Given the description of an element on the screen output the (x, y) to click on. 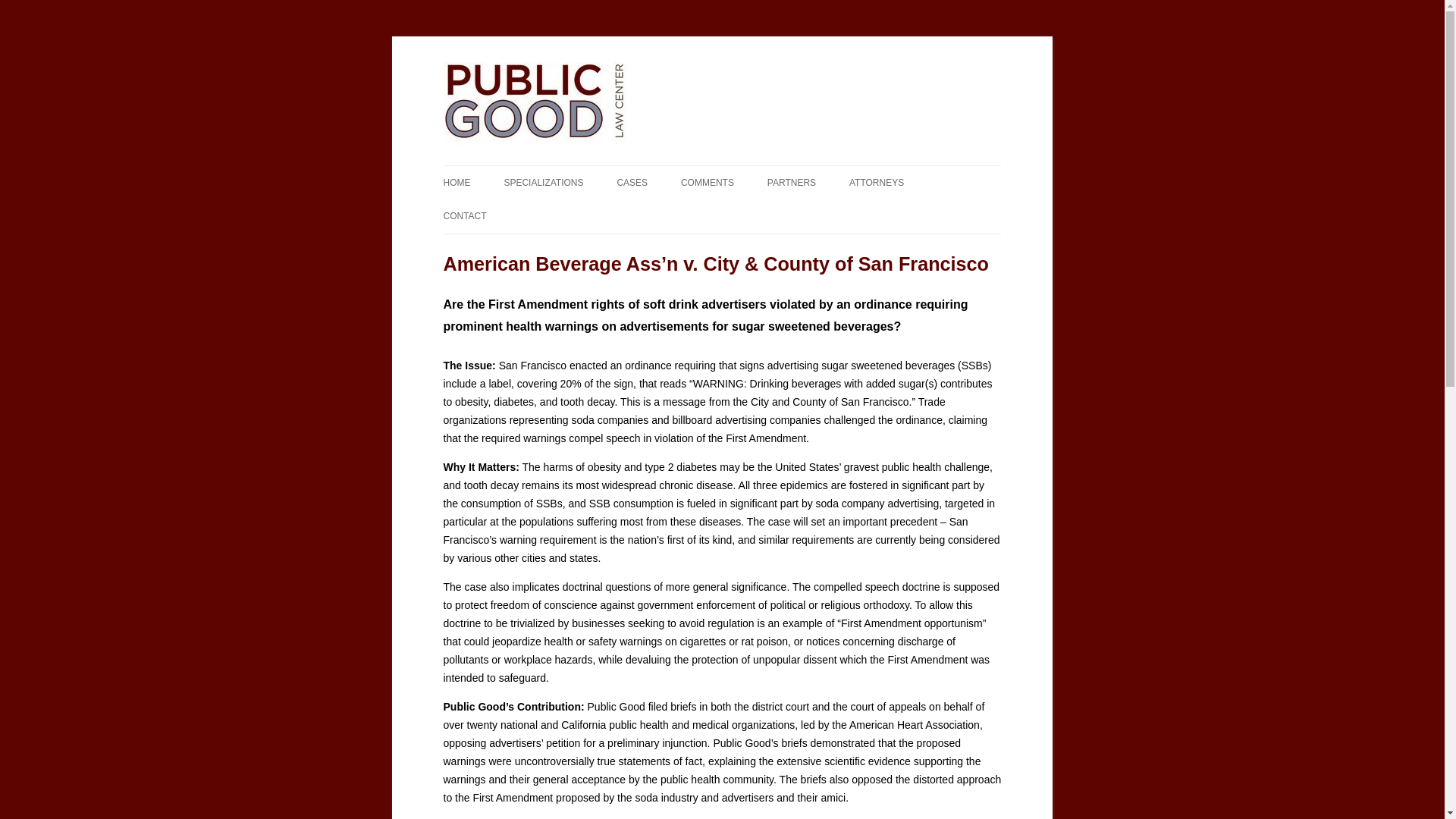
Public Good Law Center (555, 62)
ATTORNEYS (876, 182)
PARTNERS (791, 182)
SPECIALIZATIONS (543, 182)
ALL CASES (691, 214)
Public Good Law Center (555, 62)
CONTACT (464, 215)
CASES (631, 182)
